Given the description of an element on the screen output the (x, y) to click on. 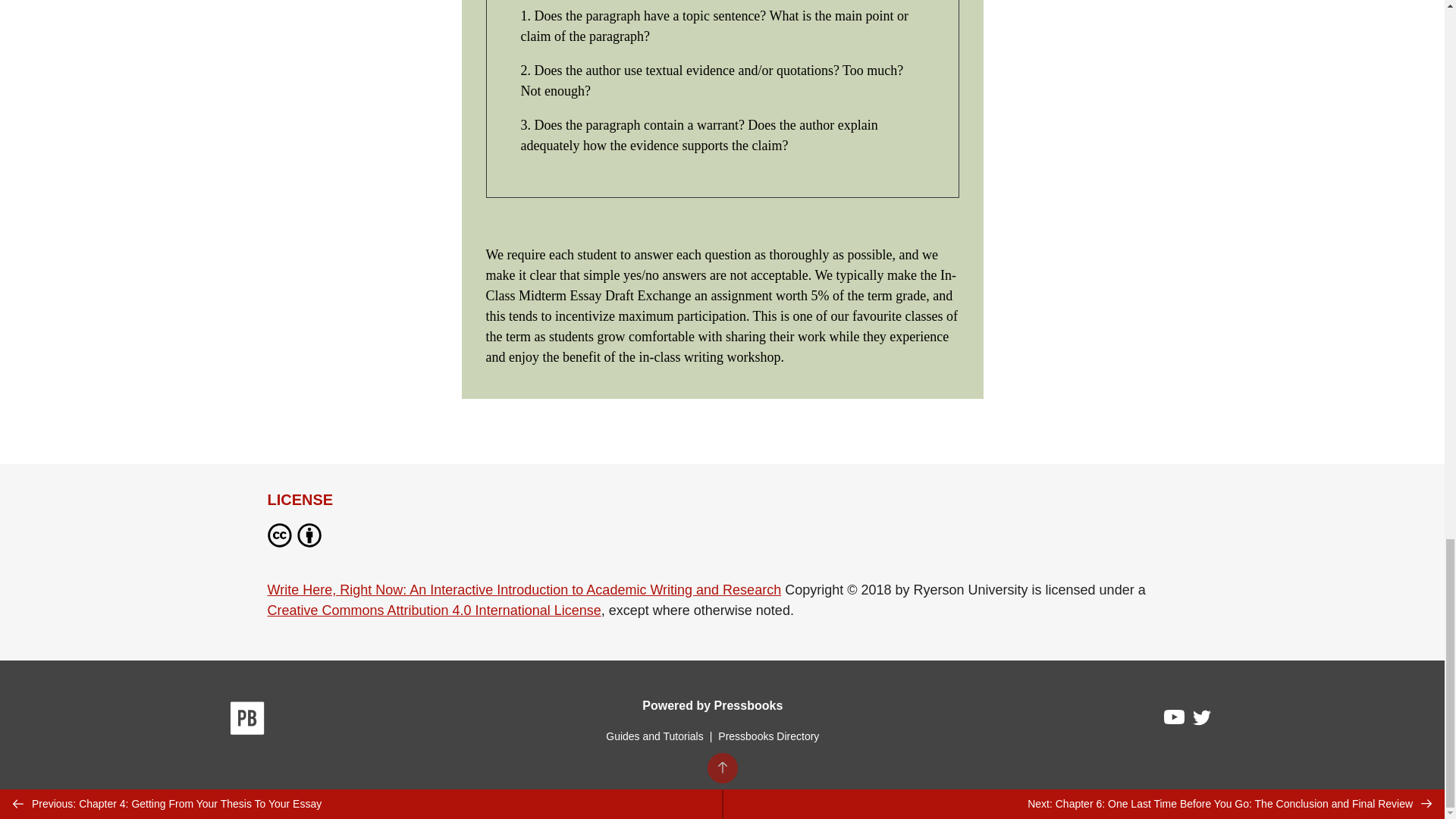
Guides and Tutorials (654, 736)
Pressbooks on YouTube (1174, 721)
Pressbooks Directory (768, 736)
Powered by Pressbooks (712, 704)
Creative Commons Attribution 4.0 International License (432, 610)
